Given the description of an element on the screen output the (x, y) to click on. 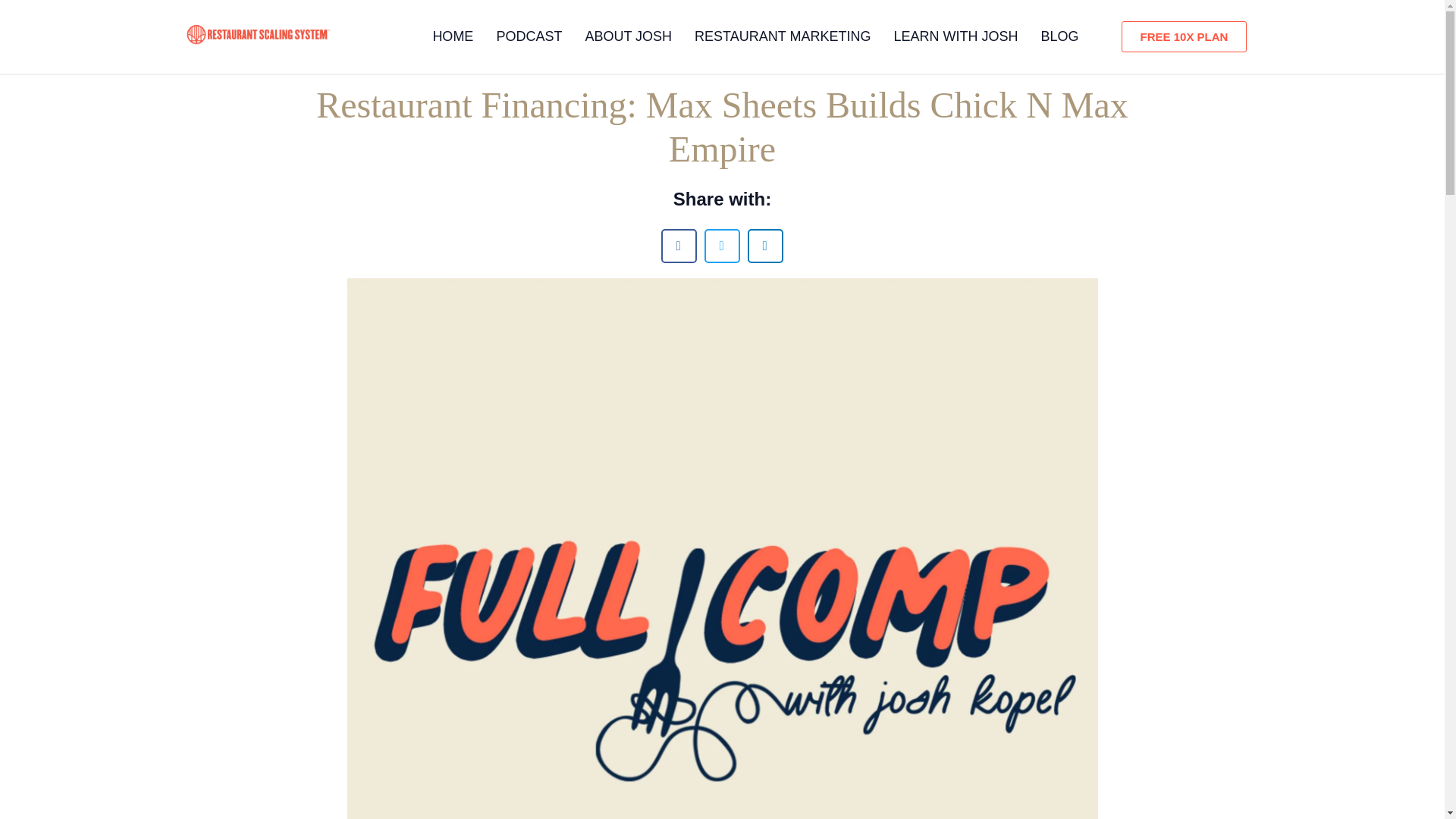
PODCAST (528, 36)
ABOUT JOSH (627, 36)
HOME (452, 36)
RESTAURANT MARKETING (782, 36)
LEARN WITH JOSH (955, 36)
FREE 10X PLAN (1184, 36)
BLOG (1059, 36)
